Given the description of an element on the screen output the (x, y) to click on. 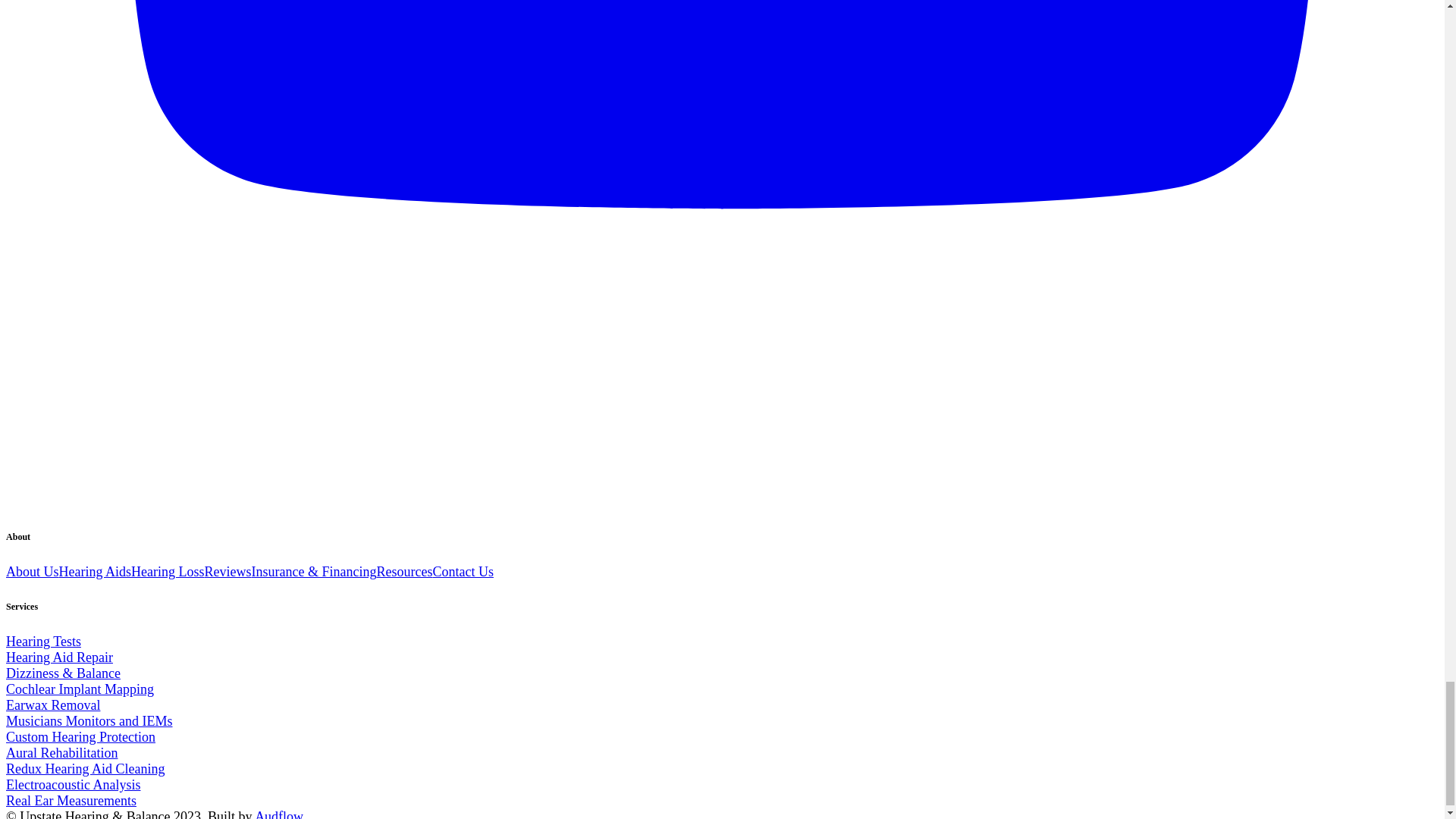
Redux Hearing Aid Cleaning (84, 768)
Hearing Aid Repair (59, 657)
Real Ear Measurements (70, 800)
Cochlear Implant Mapping (79, 688)
Custom Hearing Protection (80, 736)
Hearing Aids (95, 571)
About Us (32, 571)
Aural Rehabilitation (61, 752)
Resources (403, 571)
Reviews (226, 571)
Earwax Removal (52, 704)
Contact Us (462, 571)
Electroacoustic Analysis (72, 784)
Musicians Monitors and IEMs (89, 720)
Hearing Loss (167, 571)
